Given the description of an element on the screen output the (x, y) to click on. 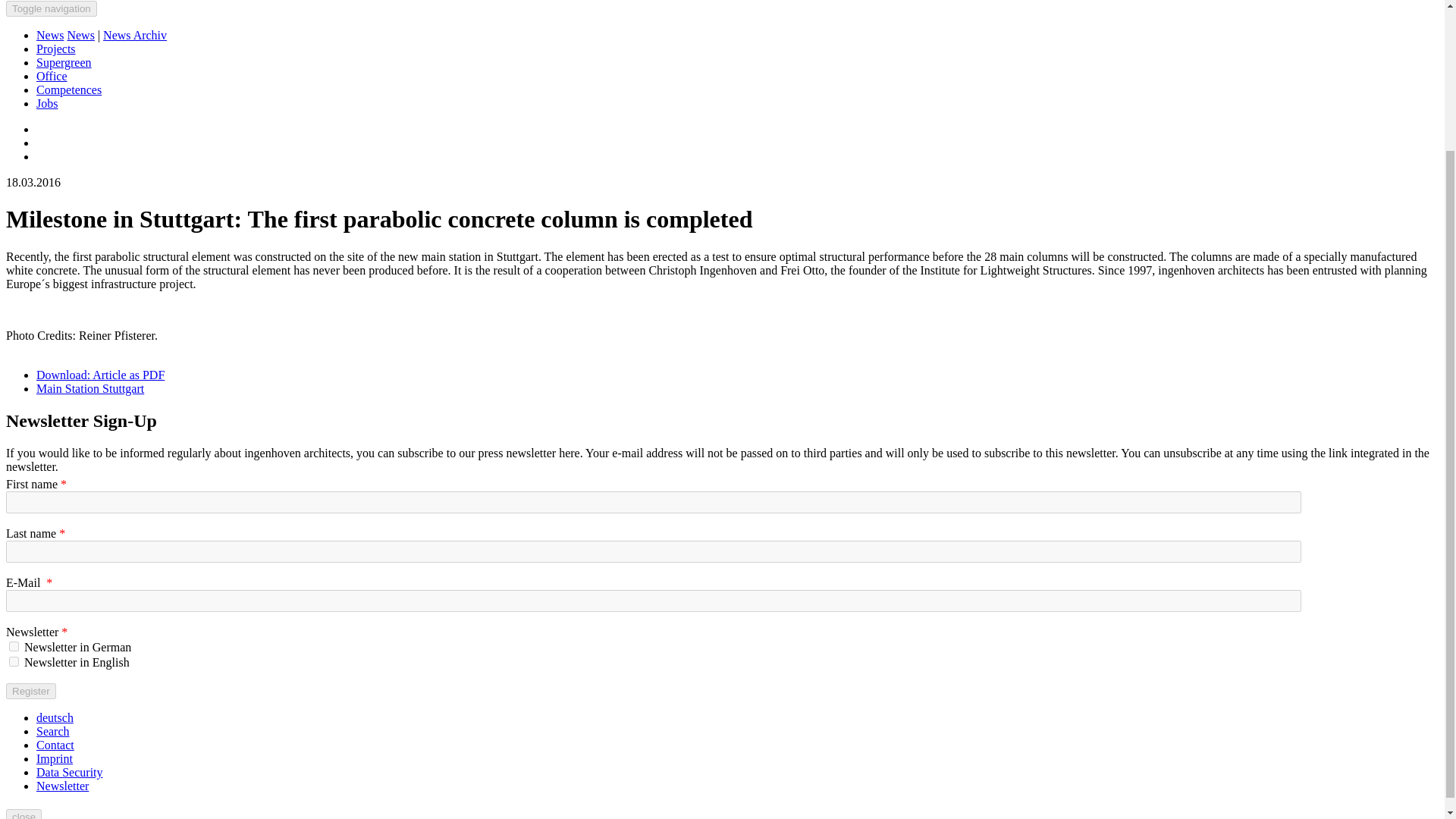
Register (30, 691)
Search (52, 730)
Download: Article as PDF (100, 374)
Toggle navigation (51, 8)
Office (51, 75)
Newsletter (62, 785)
Projects (55, 48)
News (80, 34)
News (50, 34)
Supergreen (63, 62)
